Given the description of an element on the screen output the (x, y) to click on. 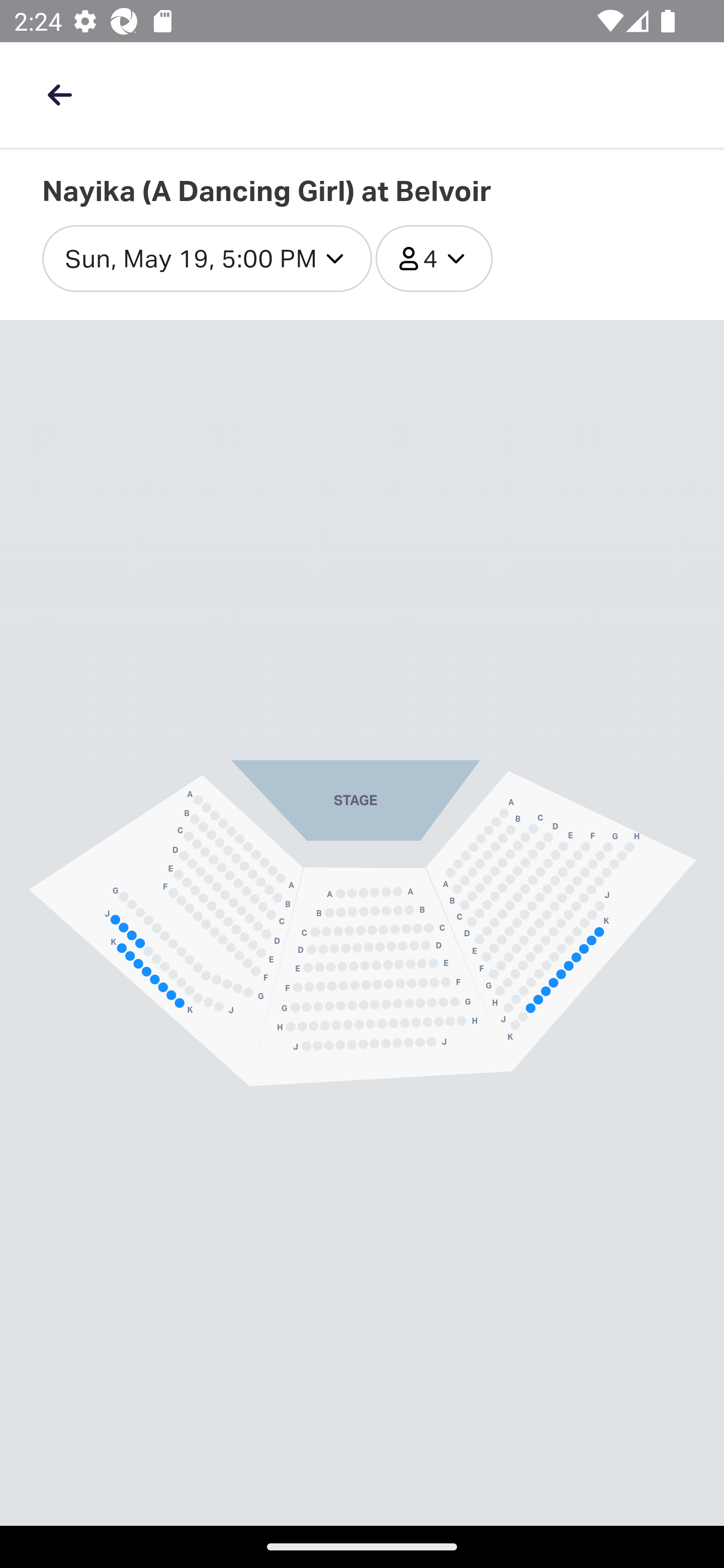
back button (59, 94)
Sun, May 19, 5:00 PM (206, 259)
4 (434, 259)
B B C C D D E E F F G G H H J J K K A A (560, 919)
A A B B C C D D E E F F G G J J K K (166, 930)
A A B B C C D D E E F F G G H H J J (380, 976)
